Given the description of an element on the screen output the (x, y) to click on. 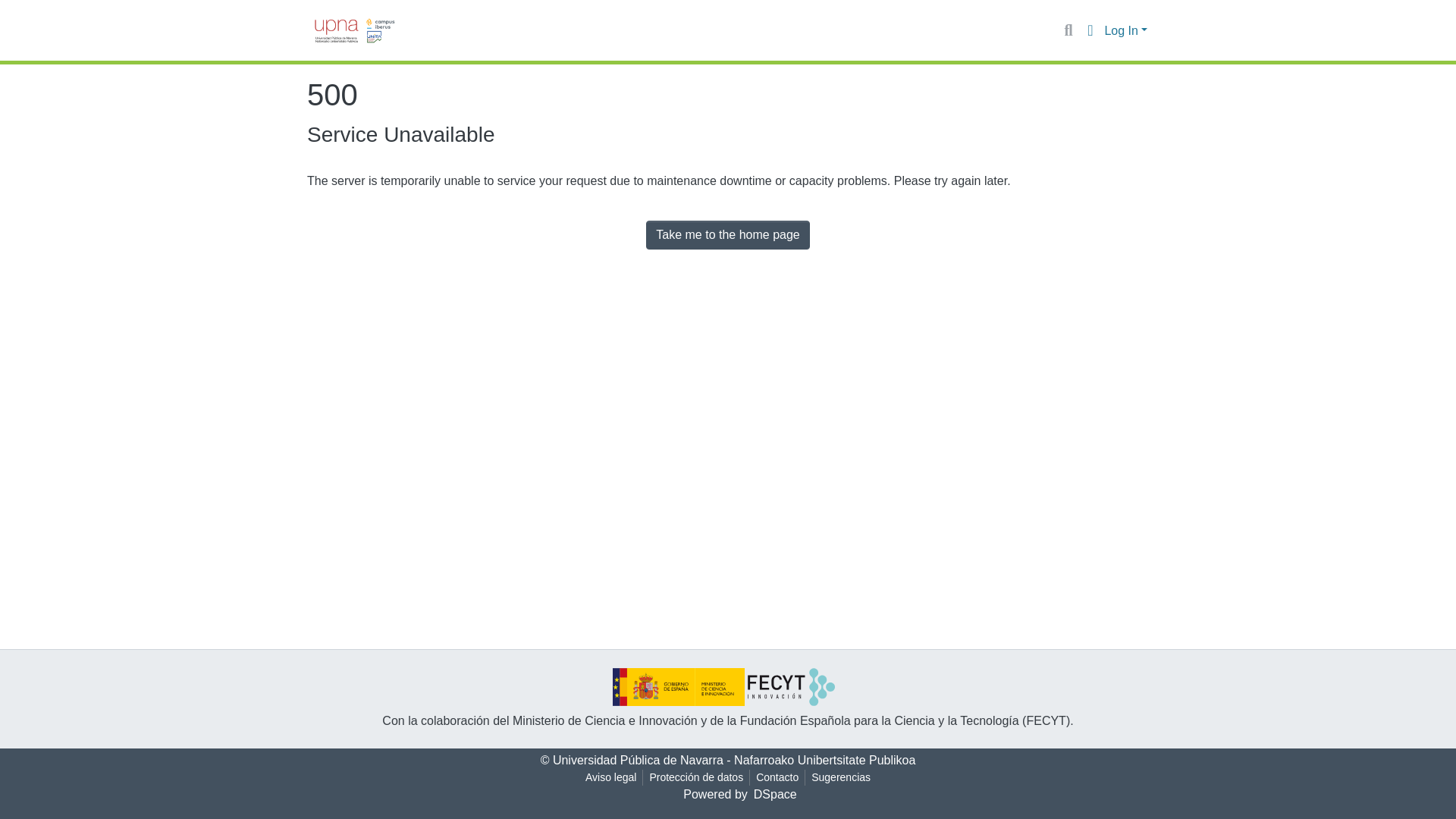
Take me to the home page (727, 234)
Language switch (1089, 30)
Sugerencias (840, 777)
Aviso legal (610, 777)
DSpace (775, 794)
Contacto (777, 777)
Log In (1125, 30)
Search (1067, 30)
